Given the description of an element on the screen output the (x, y) to click on. 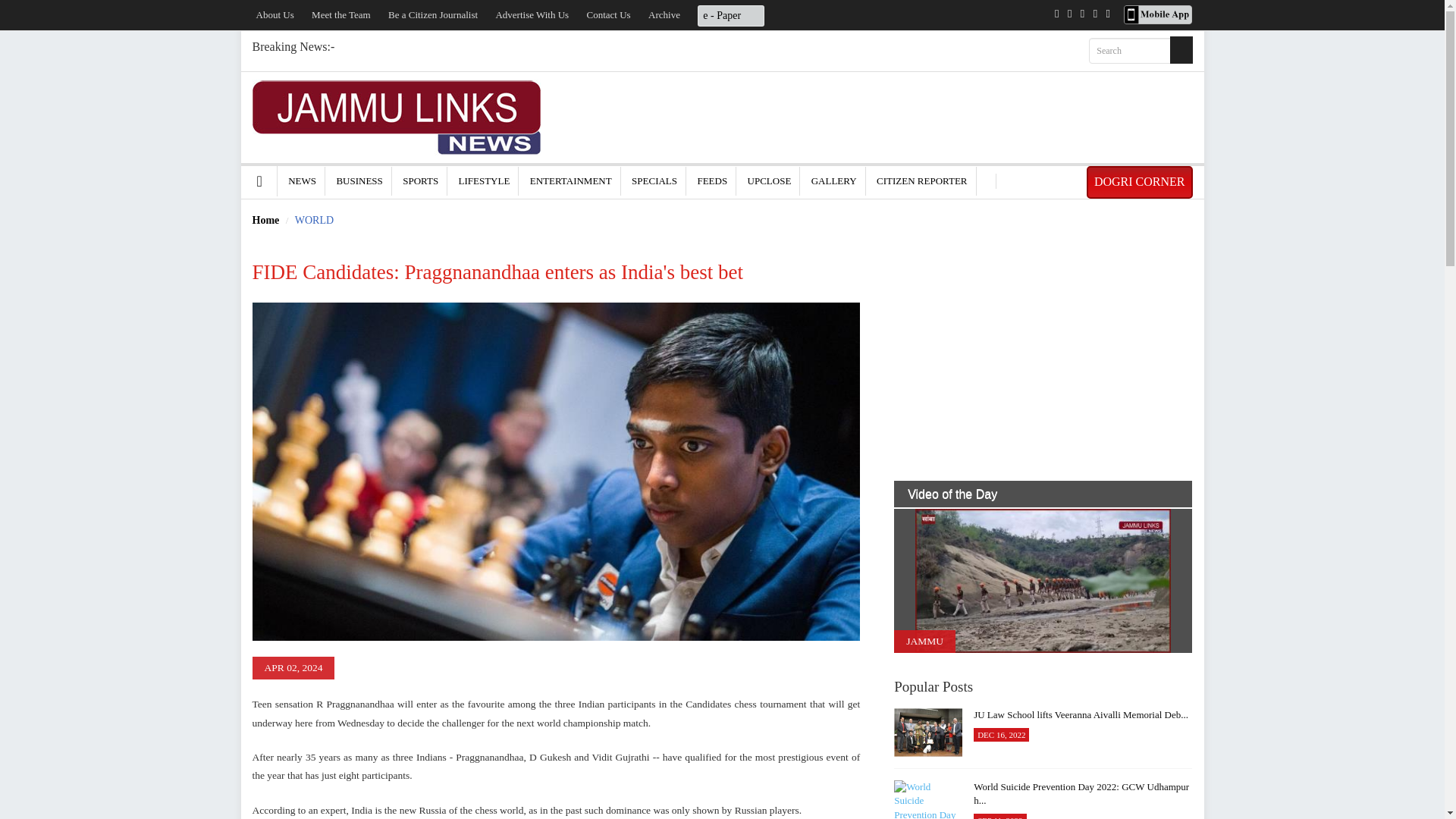
e - Paper (730, 14)
JU Law School lifts Veeranna Aivalli Memorial Deb... (927, 732)
Be a Citizen Journalist (432, 14)
SPORTS (420, 180)
Contact Us (608, 14)
Meet the Team (341, 14)
World Suicide Prevention Day 2022: GCW Udhampur h... (927, 799)
NEWS (301, 180)
Archive (663, 14)
BUSINESS (358, 180)
e - Paper (730, 15)
Advertise With Us (532, 14)
